Given the description of an element on the screen output the (x, y) to click on. 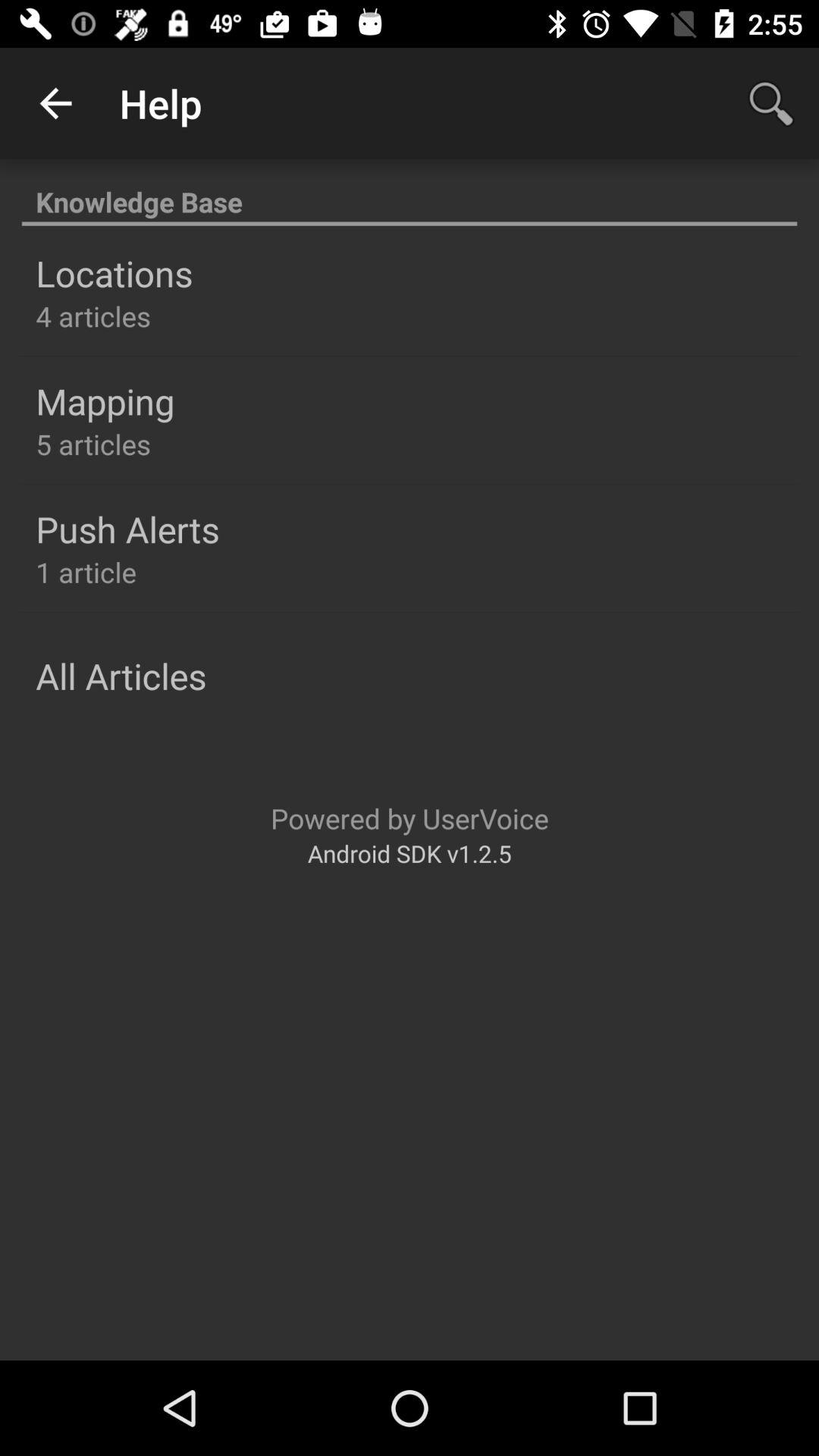
choose 4 articles item (92, 315)
